Given the description of an element on the screen output the (x, y) to click on. 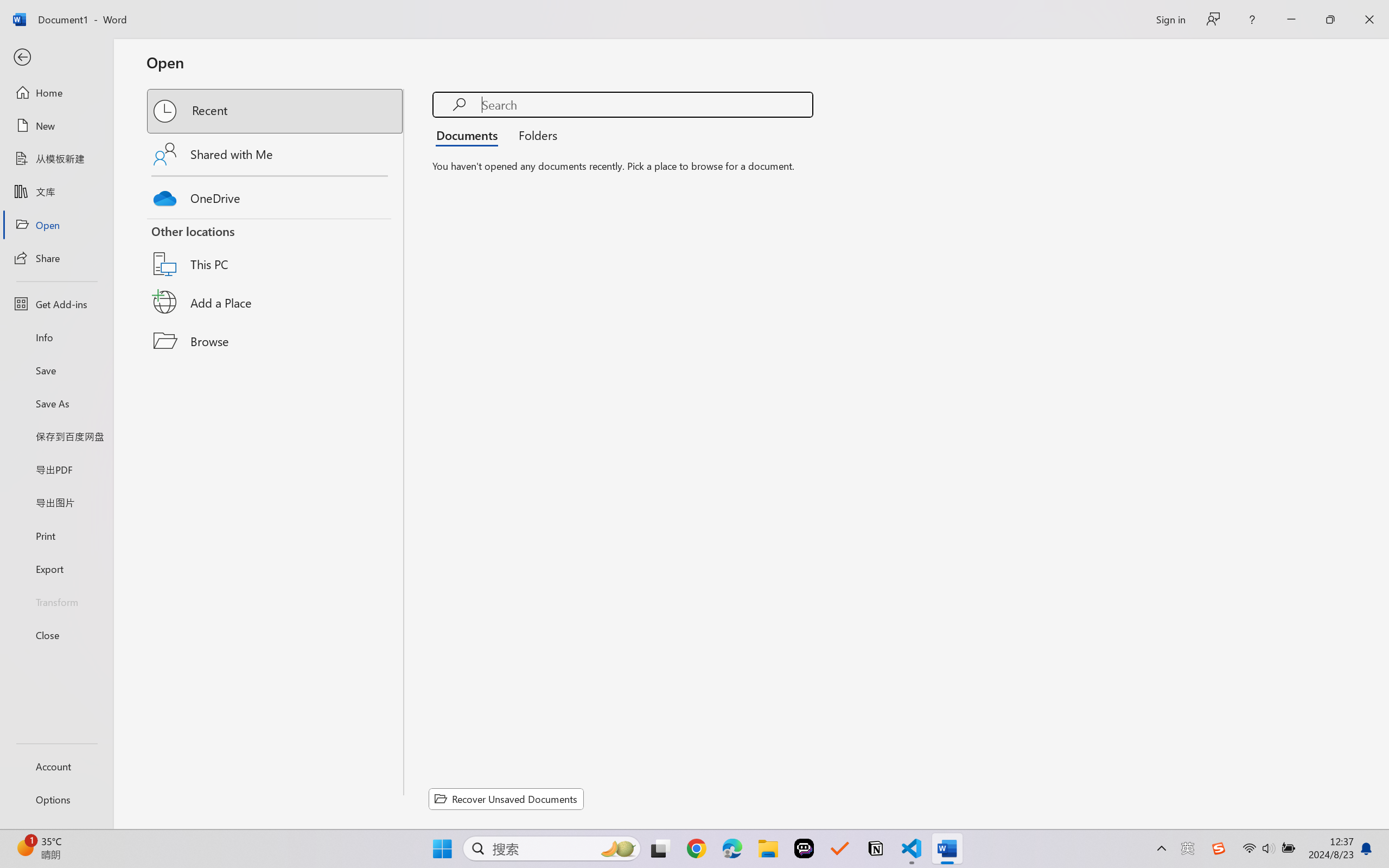
Recent (275, 110)
Shared with Me (275, 153)
Options (56, 798)
Back (56, 57)
Recover Unsaved Documents (506, 798)
